Given the description of an element on the screen output the (x, y) to click on. 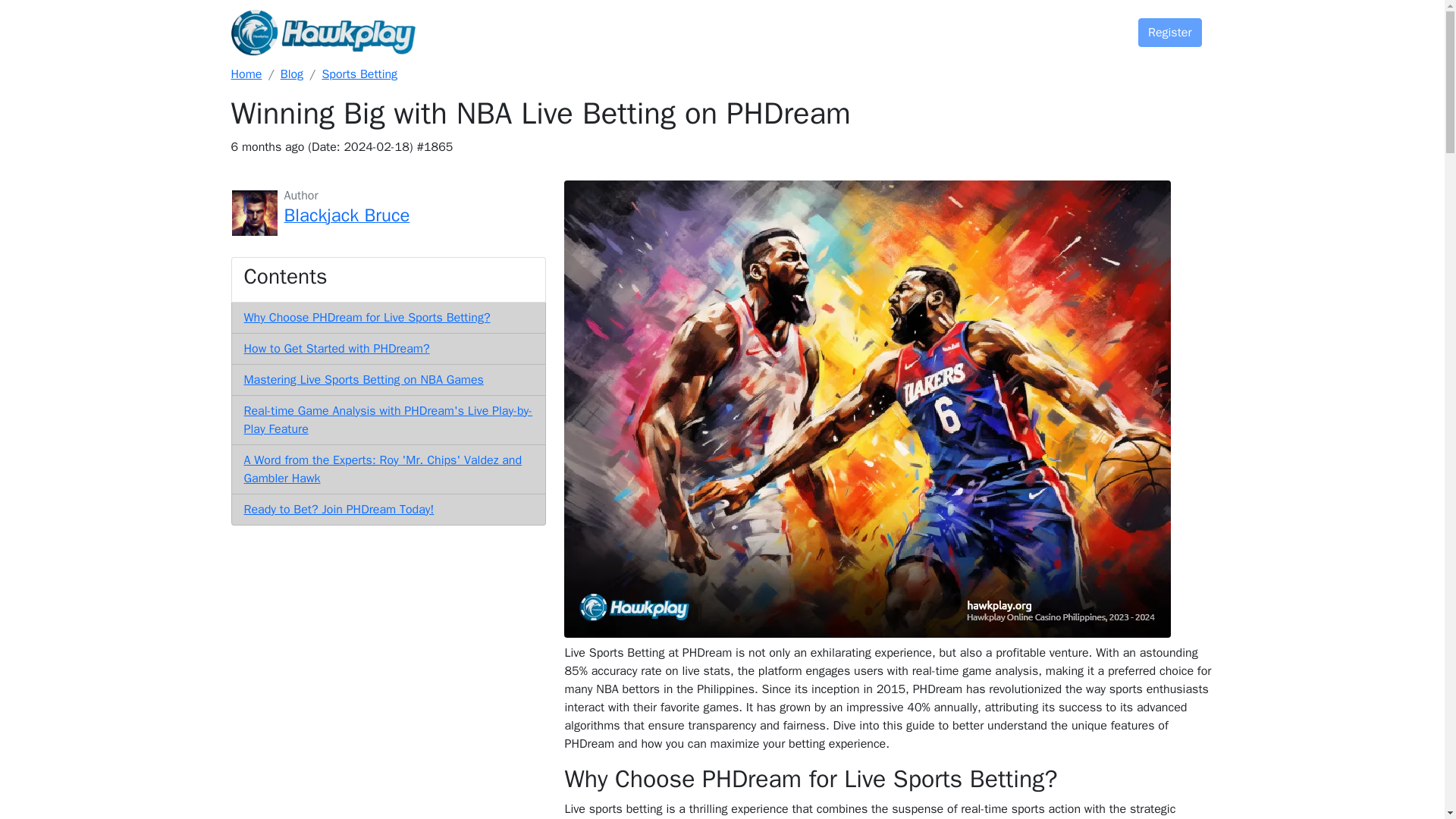
Home (246, 73)
A Word from the Experts: Roy  (383, 469)
Blog (960, 27)
Mastering Live Sports Betting on NBA Games (363, 379)
Ready to Bet? Join PHDream Today! (338, 509)
Hawkplay (246, 73)
Hawkplay Blog (291, 73)
How to Get Started with PHDream? (336, 348)
Login (1088, 27)
